Given the description of an element on the screen output the (x, y) to click on. 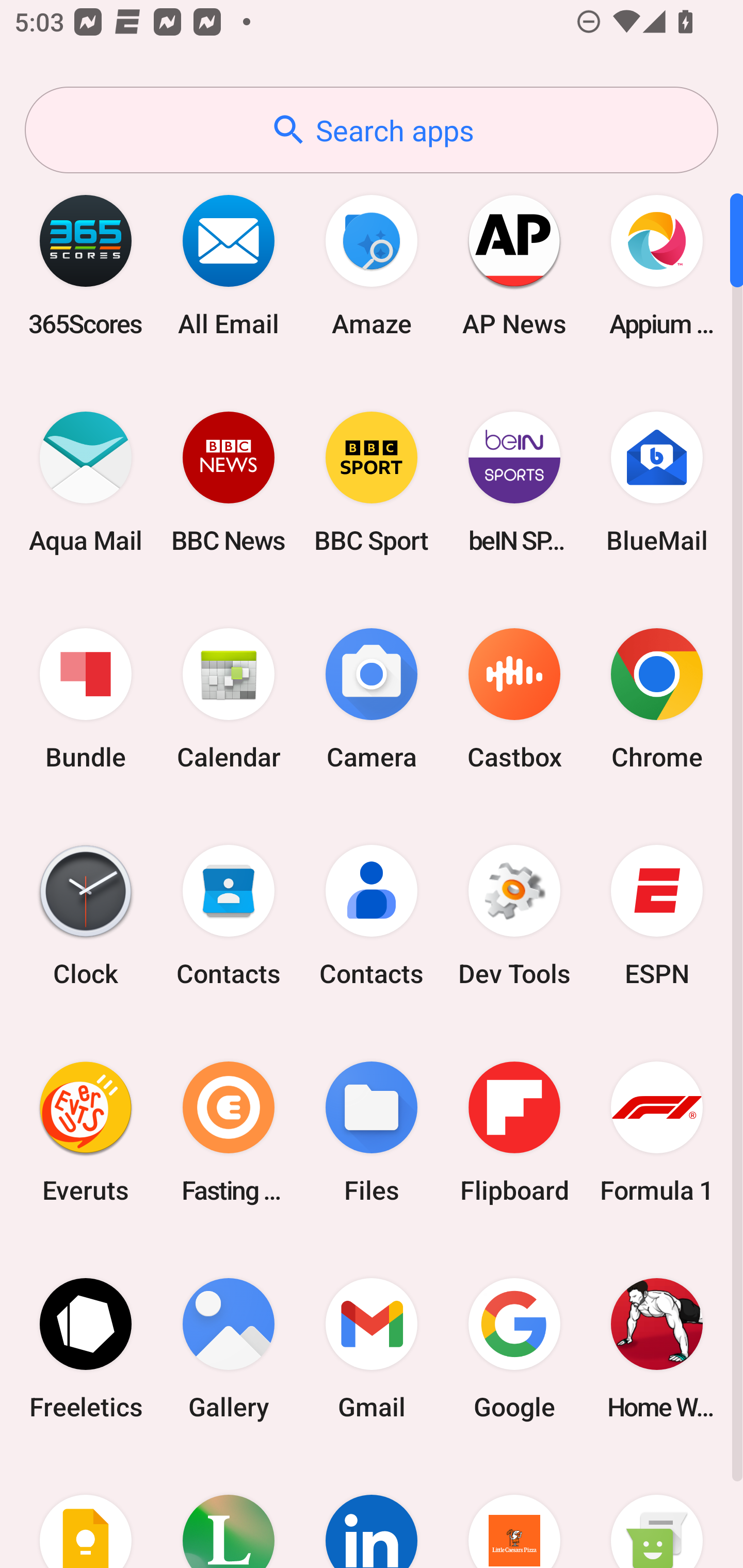
  Search apps (371, 130)
365Scores (85, 264)
All Email (228, 264)
Amaze (371, 264)
AP News (514, 264)
Appium Settings (656, 264)
Aqua Mail (85, 482)
BBC News (228, 482)
BBC Sport (371, 482)
beIN SPORTS (514, 482)
BlueMail (656, 482)
Bundle (85, 699)
Calendar (228, 699)
Camera (371, 699)
Castbox (514, 699)
Chrome (656, 699)
Clock (85, 915)
Contacts (228, 915)
Contacts (371, 915)
Dev Tools (514, 915)
ESPN (656, 915)
Everuts (85, 1131)
Fasting Coach (228, 1131)
Files (371, 1131)
Flipboard (514, 1131)
Formula 1 (656, 1131)
Freeletics (85, 1348)
Gallery (228, 1348)
Gmail (371, 1348)
Google (514, 1348)
Home Workout (656, 1348)
Keep Notes (85, 1512)
Lifesum (228, 1512)
LinkedIn (371, 1512)
Little Caesars Pizza (514, 1512)
Messaging (656, 1512)
